Given the description of an element on the screen output the (x, y) to click on. 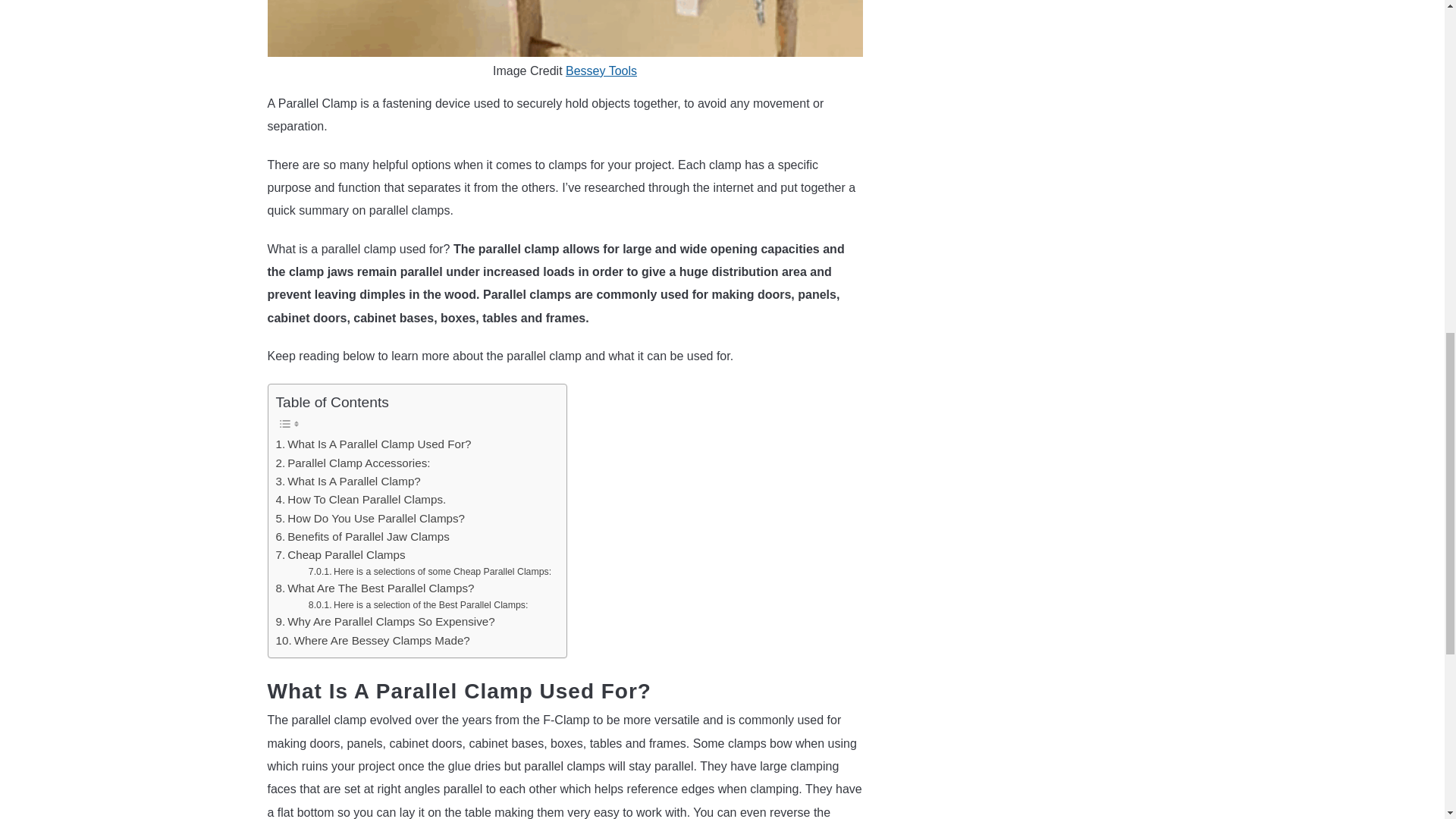
Why Are Parallel Clamps So Expensive? (385, 621)
How To Clean Parallel Clamps. (361, 499)
How Do You Use Parallel Clamps? (370, 518)
Cheap Parallel Clamps (341, 555)
What Is A Parallel Clamp? (348, 481)
What Are The Best Parallel Clamps? (375, 588)
Benefits of Parallel Jaw Clamps (362, 536)
What Is A Parallel Clamp Used For? (373, 443)
Parallel Clamp Accessories: (353, 463)
Benefits of Parallel Jaw Clamps (362, 536)
Bessey Tools (601, 70)
What Is A Parallel Clamp? (348, 481)
How Do You Use Parallel Clamps? (370, 518)
Where Are Bessey Clamps Made? (373, 640)
Why Are Parallel Clamps So Expensive? (385, 621)
